Given the description of an element on the screen output the (x, y) to click on. 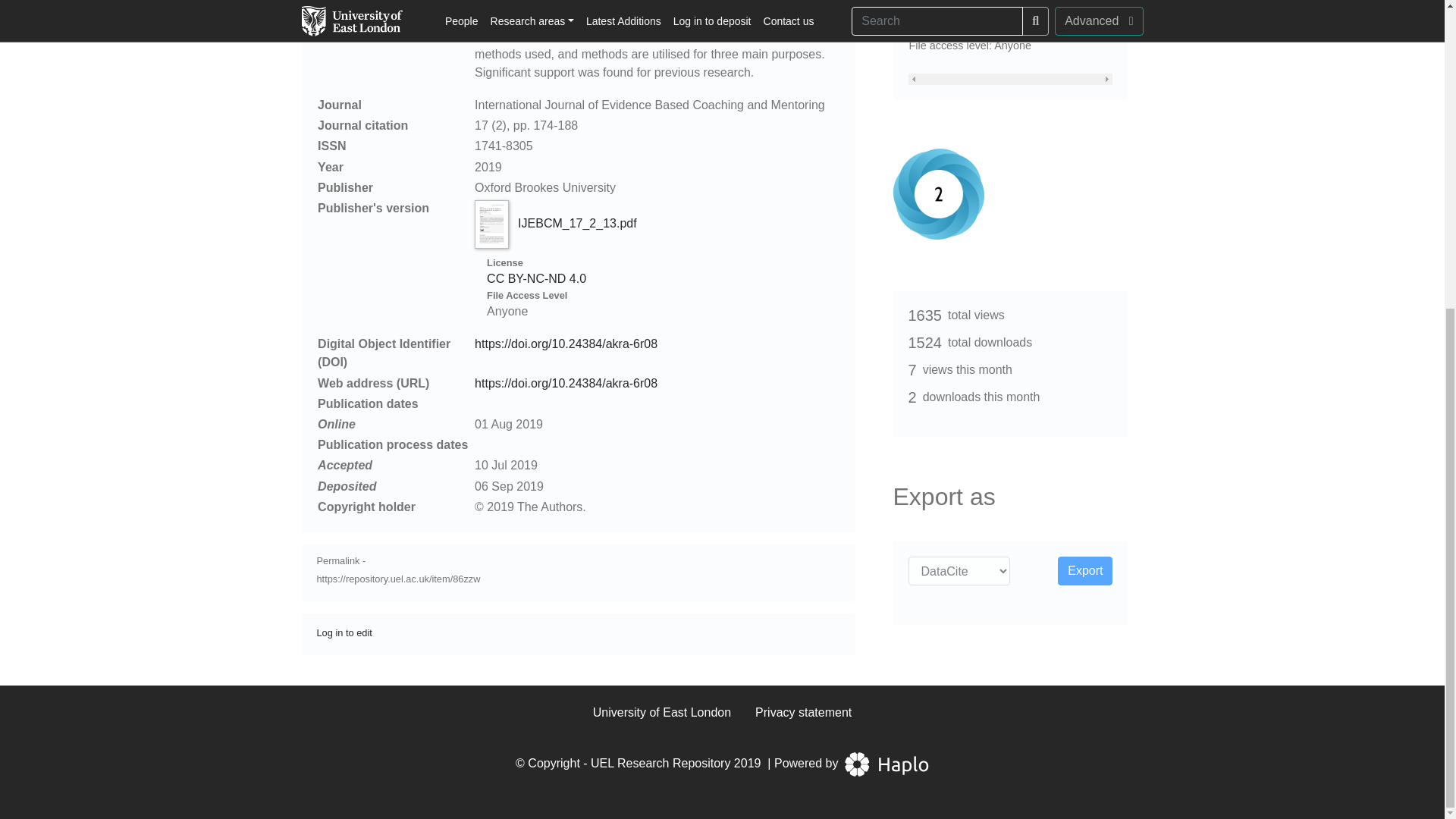
CC BY-NC-ND 4.0 (536, 278)
UEL Research Repository (660, 762)
University of East London (661, 711)
Privacy statement (803, 711)
Log in to edit (344, 632)
Export (1085, 570)
